Given the description of an element on the screen output the (x, y) to click on. 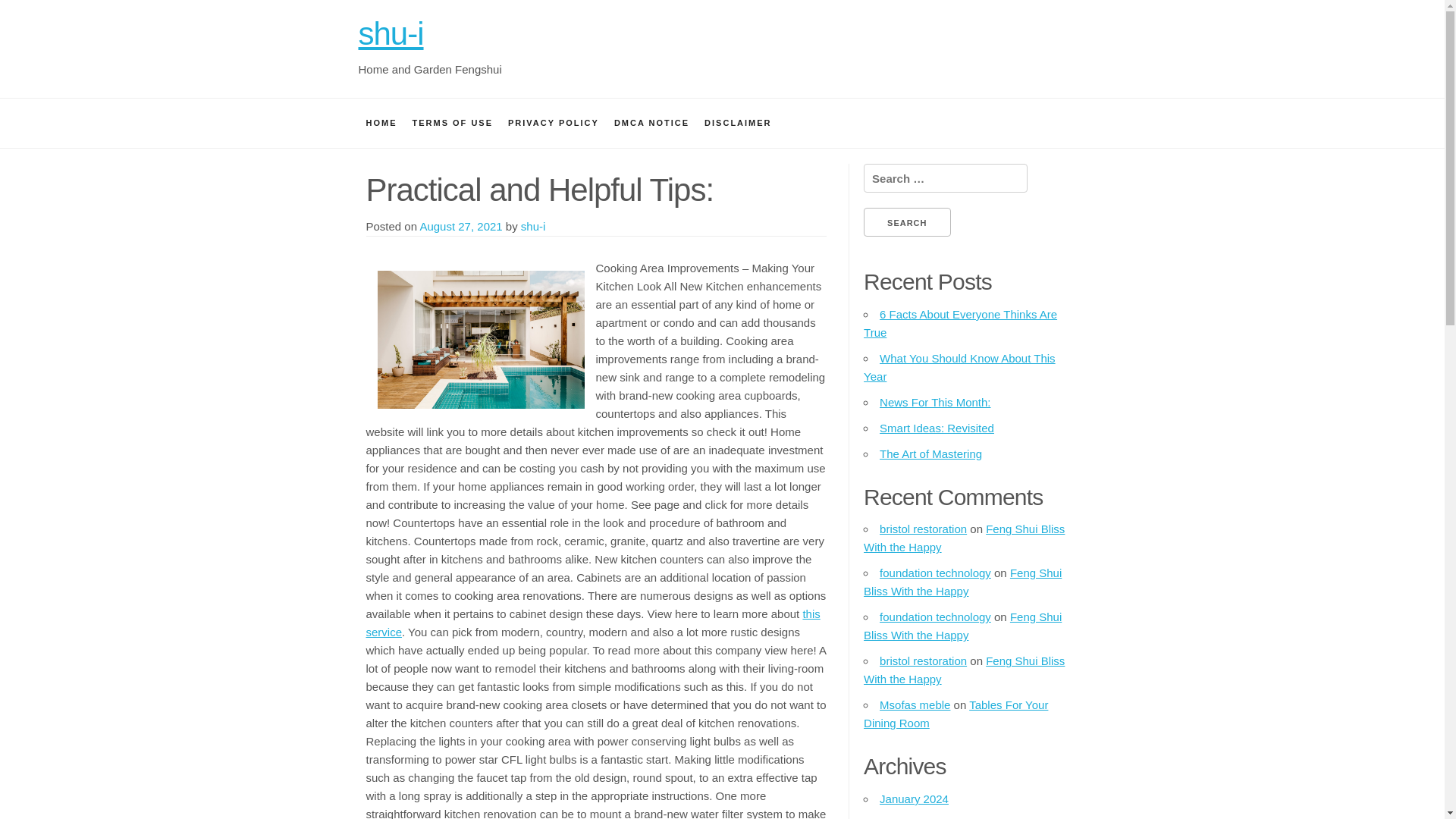
Search (906, 222)
News For This Month: (934, 401)
Search (906, 222)
Tables For Your Dining Room (955, 713)
foundation technology (935, 616)
Smart Ideas: Revisited (936, 427)
Feng Shui Bliss With the Happy (963, 669)
Feng Shui Bliss With the Happy (962, 581)
HOME (381, 122)
shu-i (390, 33)
Search (906, 222)
foundation technology (935, 572)
PRIVACY POLICY (553, 122)
6 Facts About Everyone Thinks Are True (960, 323)
Msofas meble (914, 704)
